Given the description of an element on the screen output the (x, y) to click on. 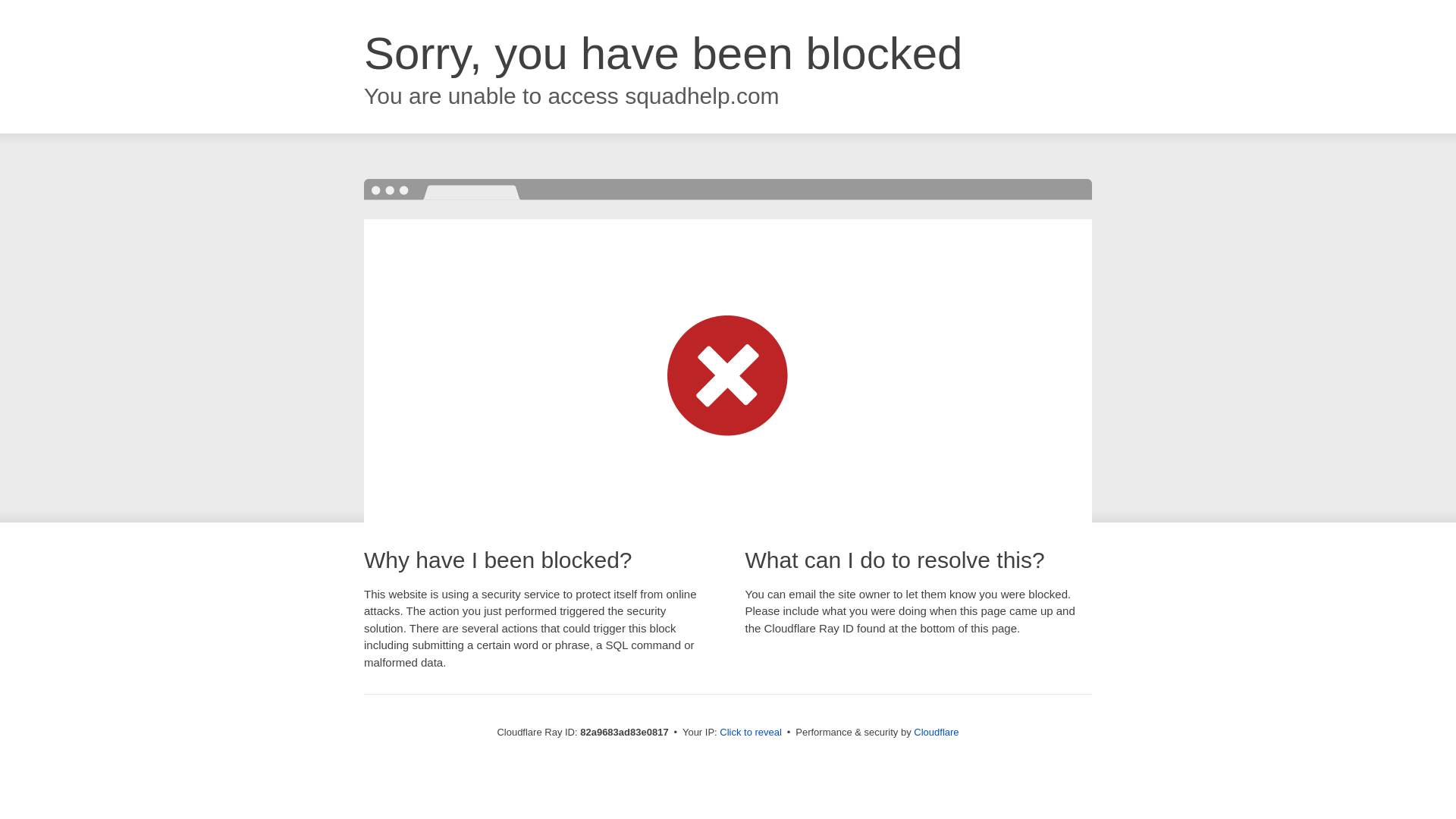
Click to reveal Element type: text (750, 732)
Cloudflare Element type: text (935, 731)
